Given the description of an element on the screen output the (x, y) to click on. 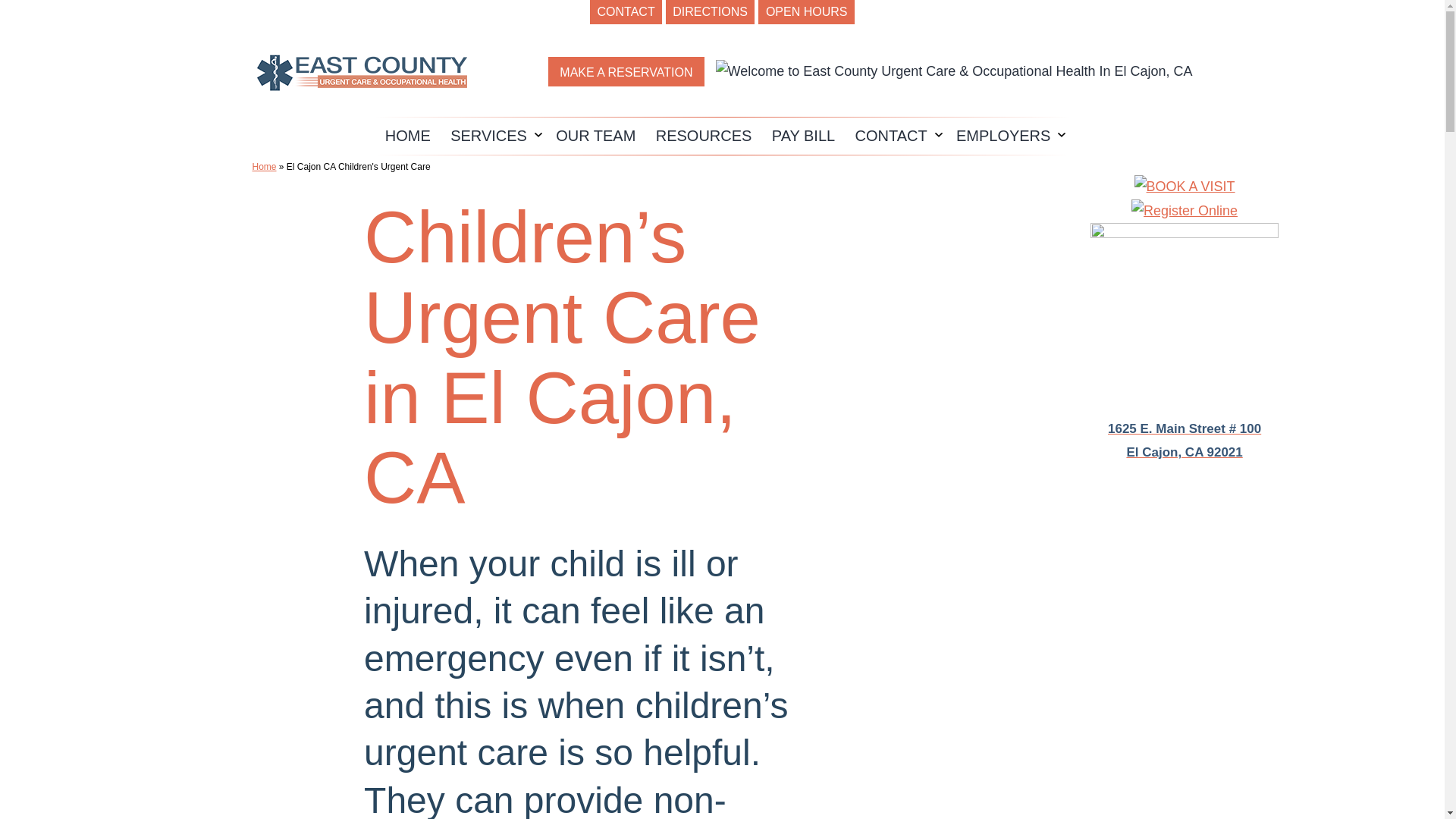
DIRECTIONS (710, 12)
CONTACT (625, 12)
PAY BILL (803, 135)
RESOURCES (703, 135)
Save on Your Urgent Care Costs in El Cajon, CA (1184, 210)
Directions to Urgent Care and Walk-In Clinic in El Cajon, CA (1184, 318)
EMPLOYERS (1003, 135)
MAKE A RESERVATION (625, 71)
BOOK A VISIT (1184, 187)
SERVICES (489, 135)
